Given the description of an element on the screen output the (x, y) to click on. 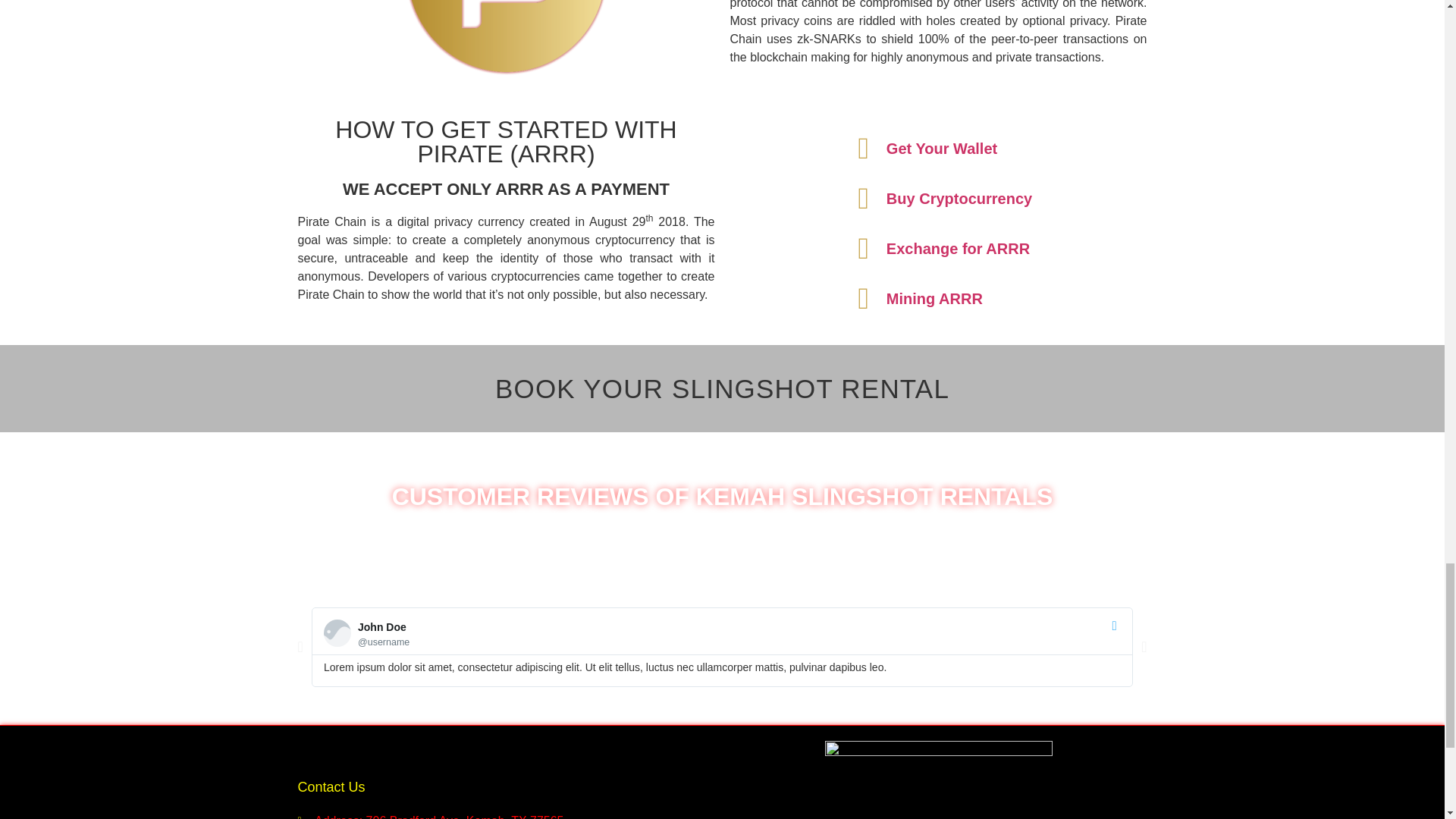
Exchange for ARRR (938, 248)
Buy Cryptocurrency (938, 198)
Get Your Wallet (938, 148)
Mining ARRR (938, 298)
